Given the description of an element on the screen output the (x, y) to click on. 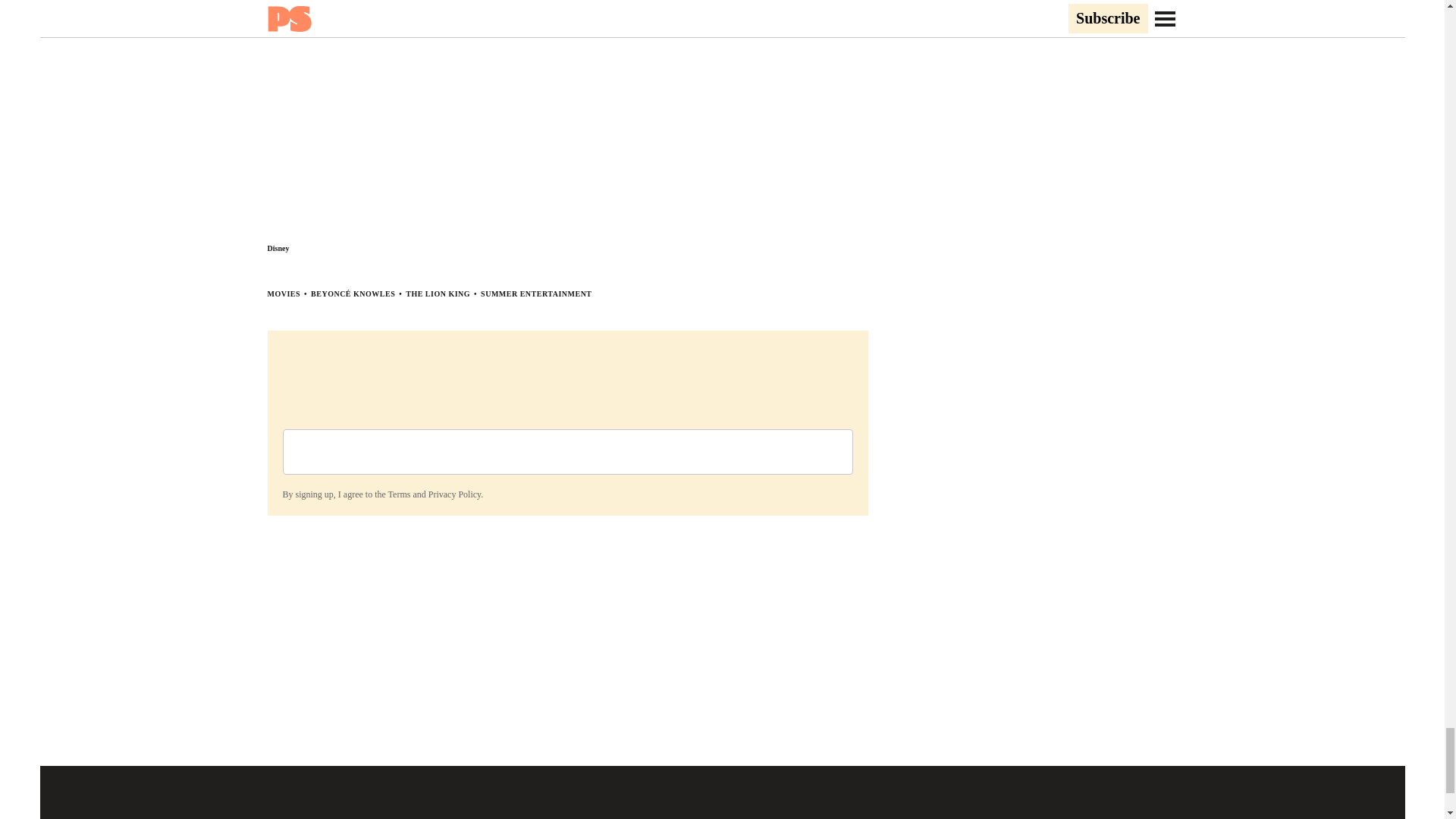
Terms (399, 493)
MOVIES (282, 293)
THE LION KING (438, 293)
SUMMER ENTERTAINMENT (535, 293)
Privacy Policy. (455, 493)
Disney (277, 248)
